Given the description of an element on the screen output the (x, y) to click on. 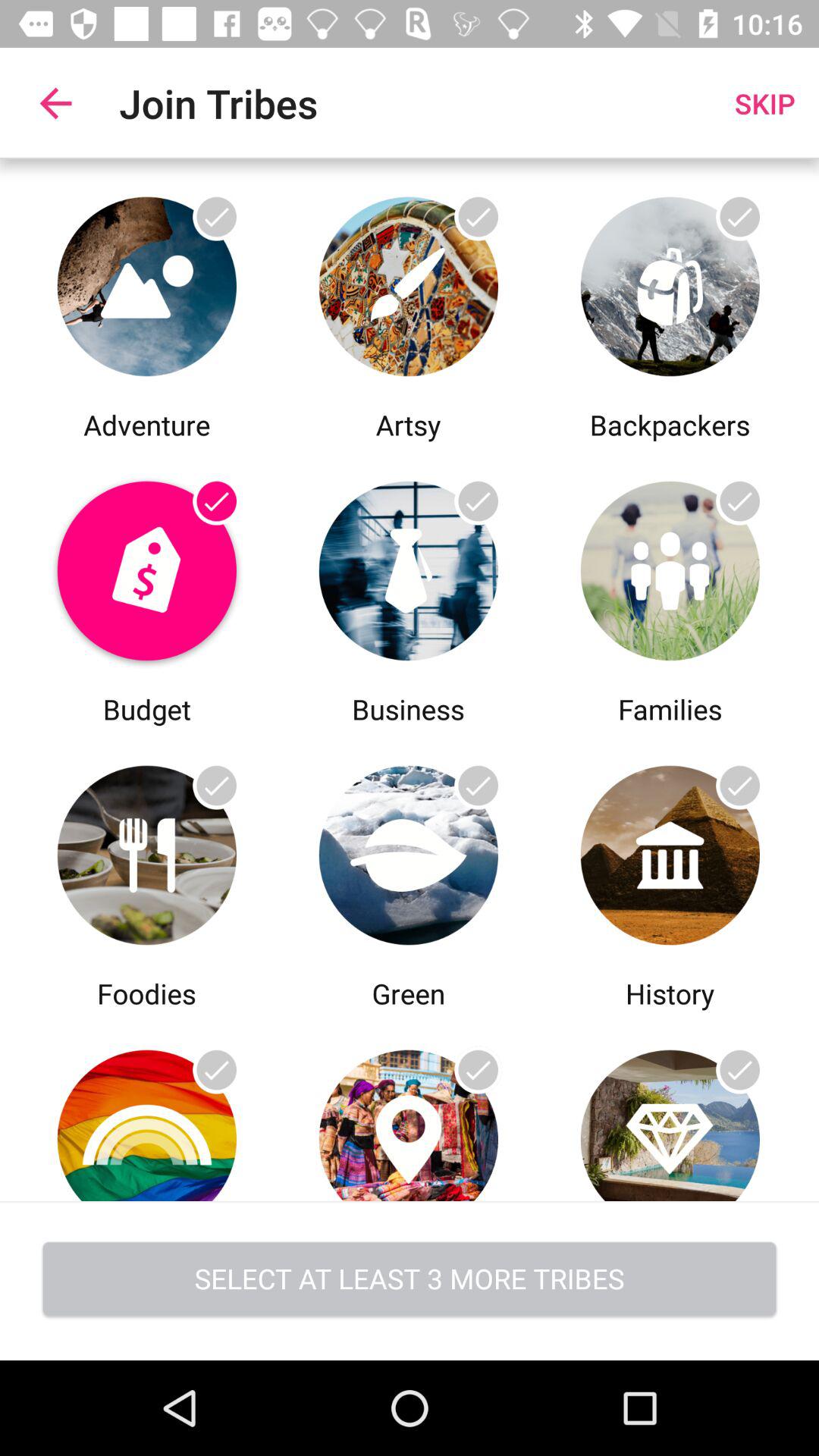
click the painting tool (408, 282)
